Given the description of an element on the screen output the (x, y) to click on. 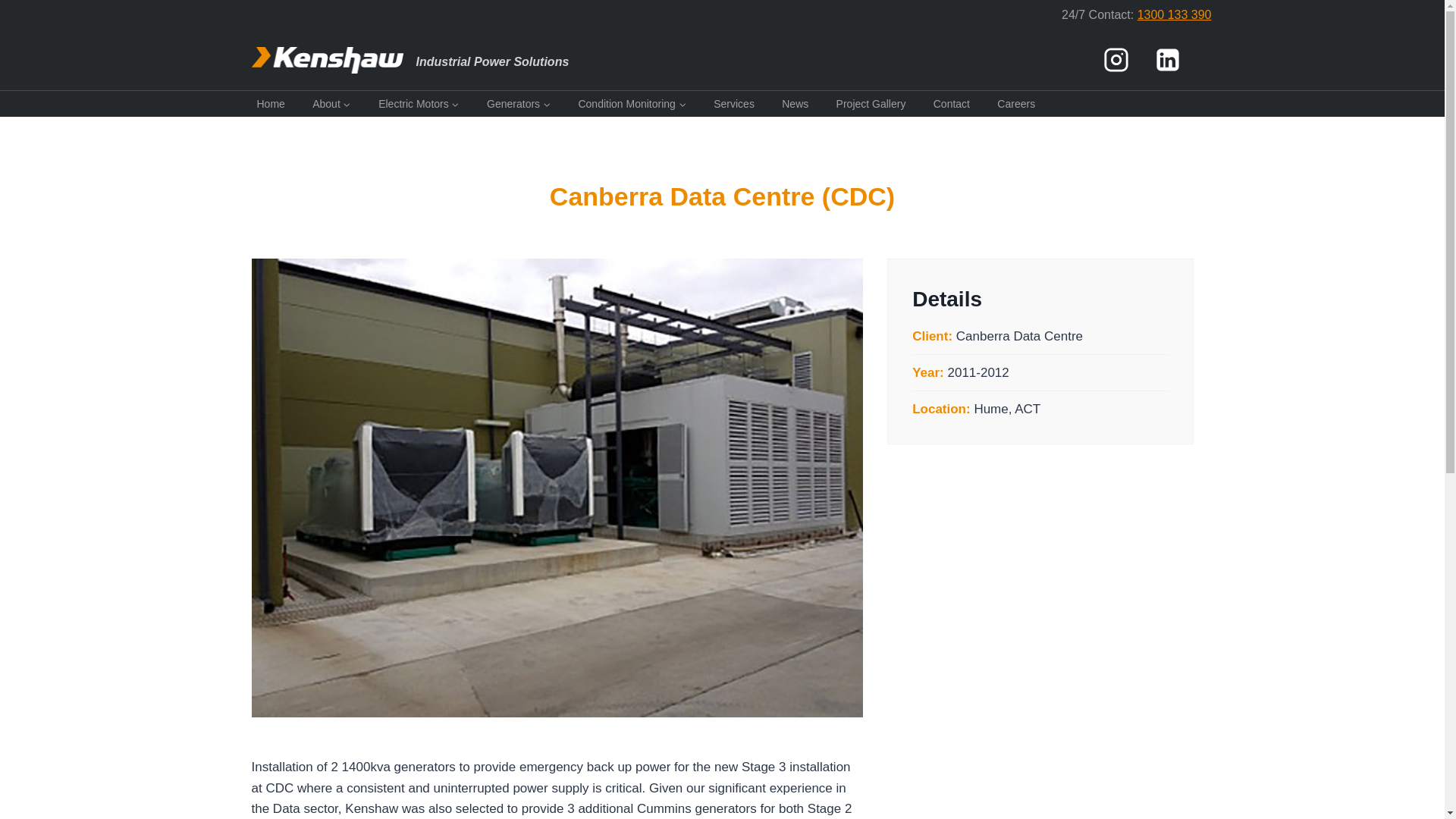
Generators (518, 103)
1300 133 390 (1174, 14)
About (331, 103)
Industrial Power Solutions (410, 59)
Home (270, 103)
Careers (1016, 103)
Contact (951, 103)
Condition Monitoring (631, 103)
Electric Motors (418, 103)
Project Gallery (871, 103)
Services (733, 103)
News (794, 103)
